Given the description of an element on the screen output the (x, y) to click on. 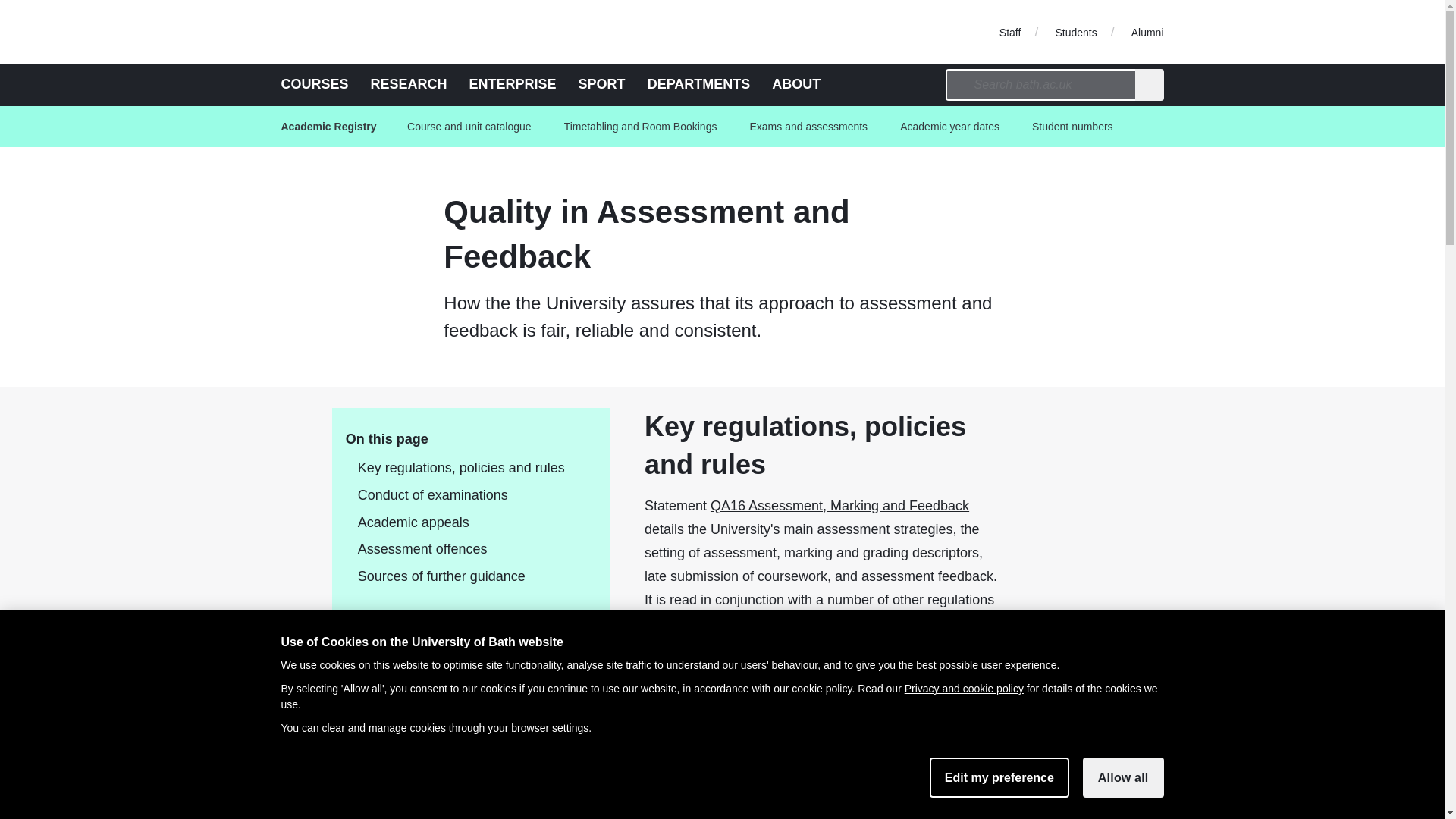
Timetabling and Room Bookings (640, 126)
Allow all (1123, 777)
Exams and assessments (808, 126)
Conduct of examinations (463, 495)
Type search term here (1039, 84)
New Framework for Assessment: Assessment Regulations (636, 694)
Academic appeals (463, 523)
QA3 Approval of New Programmes of Study (593, 797)
Privacy and cookie policy (963, 688)
Academic Registry (334, 126)
COURSES (314, 83)
Student numbers (1071, 126)
QA35 Assessment procedures for taught Programmes of study (650, 667)
RESEARCH (408, 83)
SPORT (602, 83)
